Given the description of an element on the screen output the (x, y) to click on. 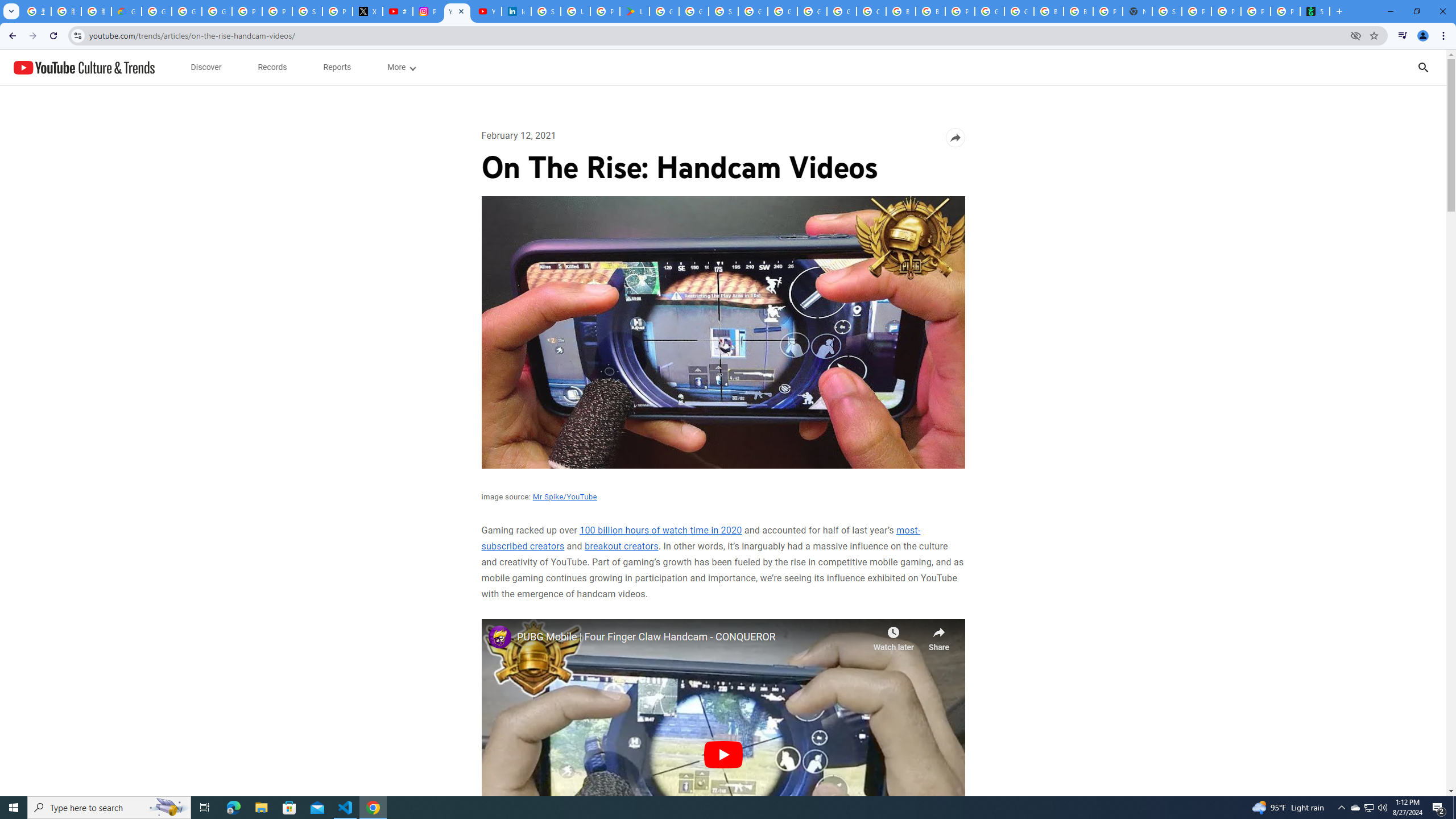
subnav-Discover menupopup (205, 67)
YouTube Culture & Trends (83, 67)
Privacy Checkup (1226, 11)
Browse Chrome as a guest - Computer - Google Chrome Help (1048, 11)
